Given the description of an element on the screen output the (x, y) to click on. 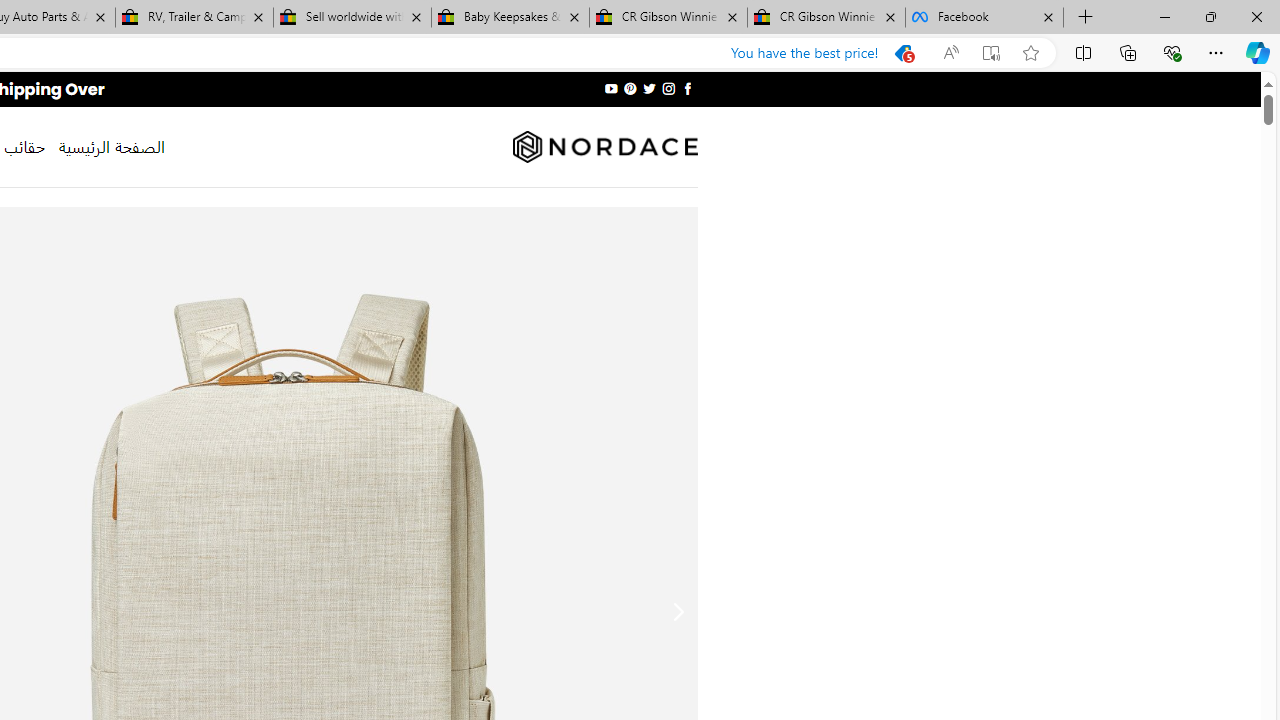
Follow on Pinterest (630, 88)
You have the best price! (873, 53)
Facebook (984, 17)
Follow on YouTube (611, 88)
Follow on Instagram (667, 88)
